Given the description of an element on the screen output the (x, y) to click on. 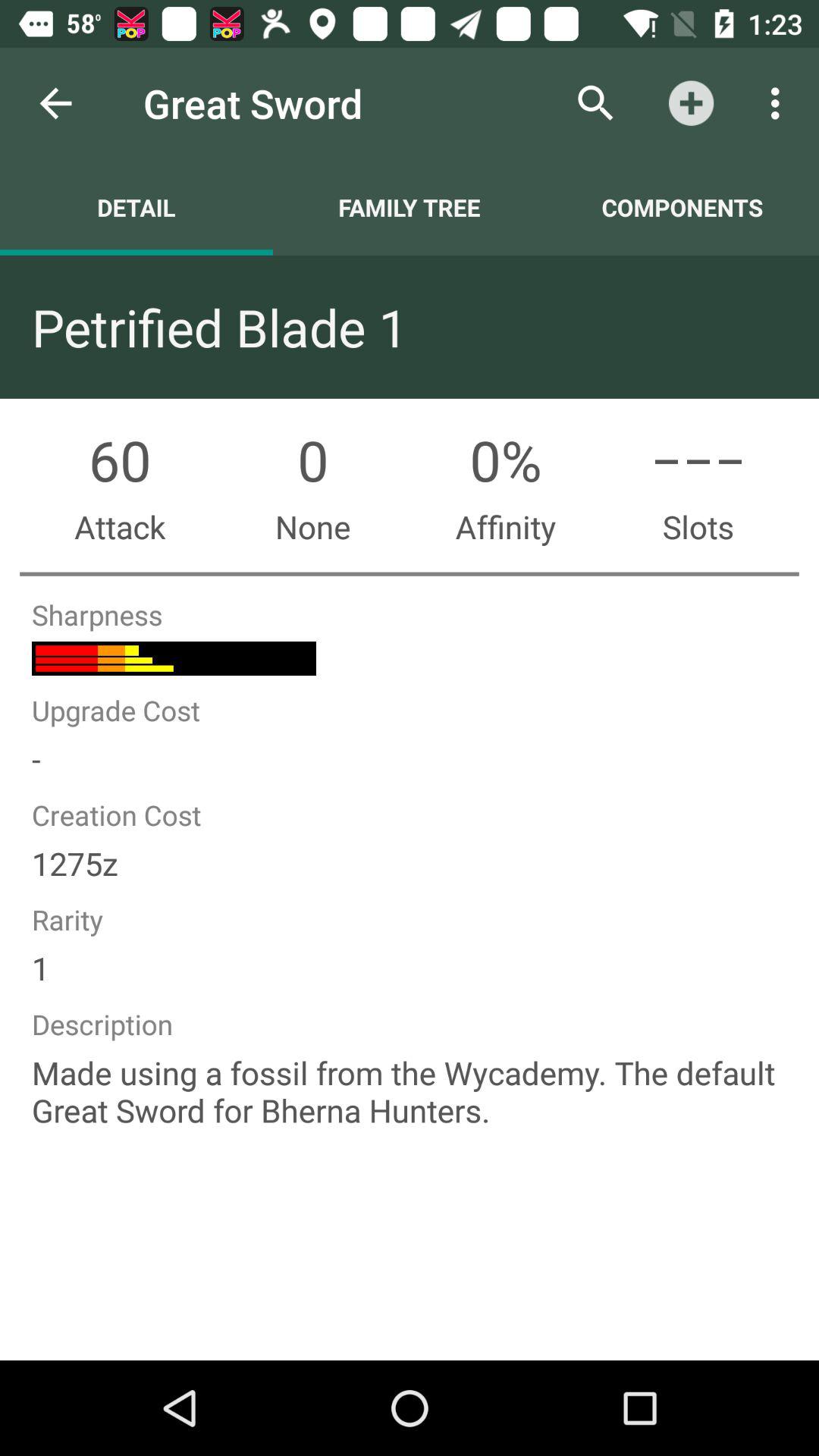
select icon to the right of family tree app (595, 103)
